Given the description of an element on the screen output the (x, y) to click on. 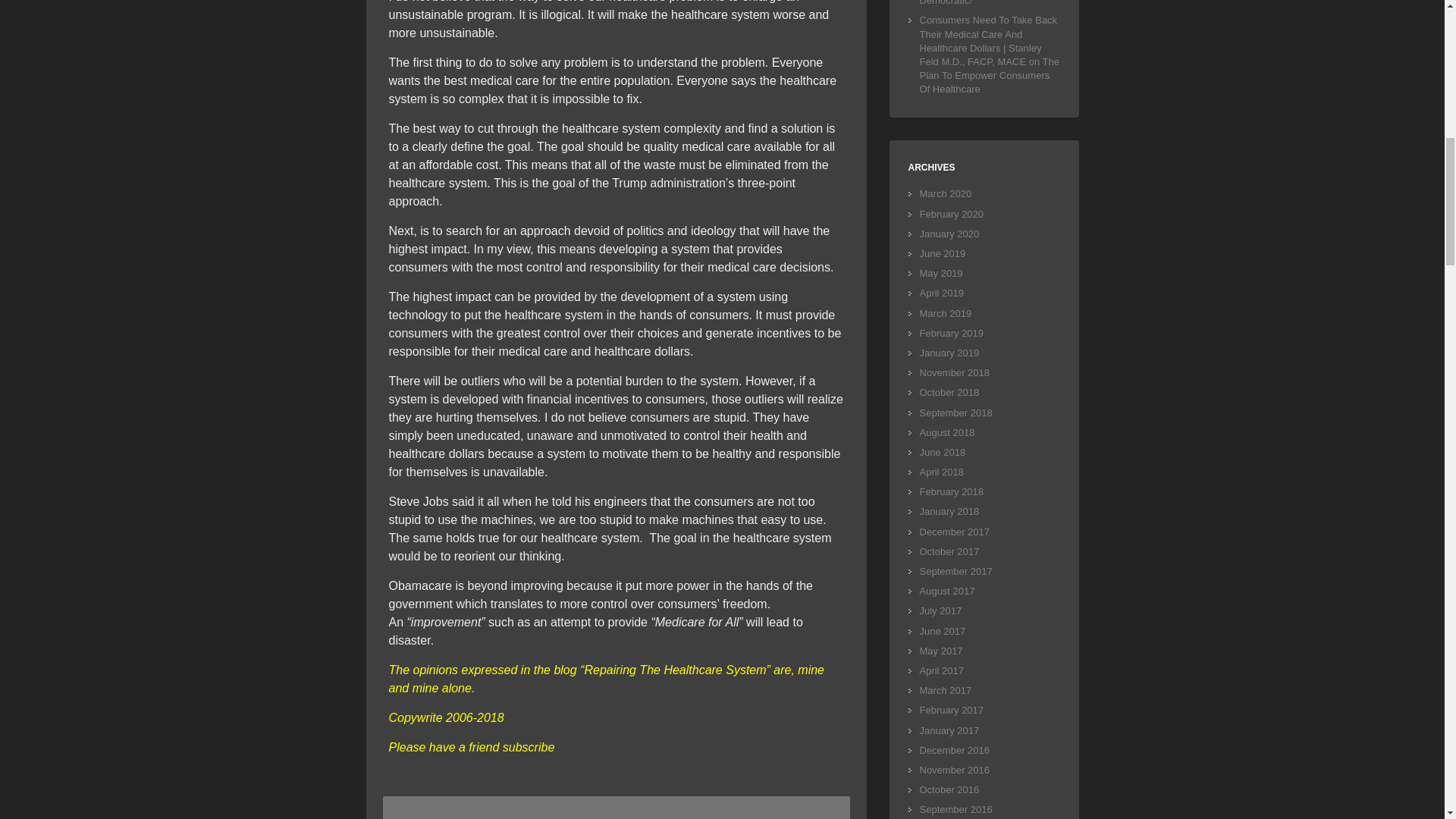
My Ideal Medical Savings Account Is Democratic! (988, 2)
February 2020 (951, 214)
March 2020 (944, 193)
The Plan To Empower Consumers Of Healthcare (988, 75)
